Given the description of an element on the screen output the (x, y) to click on. 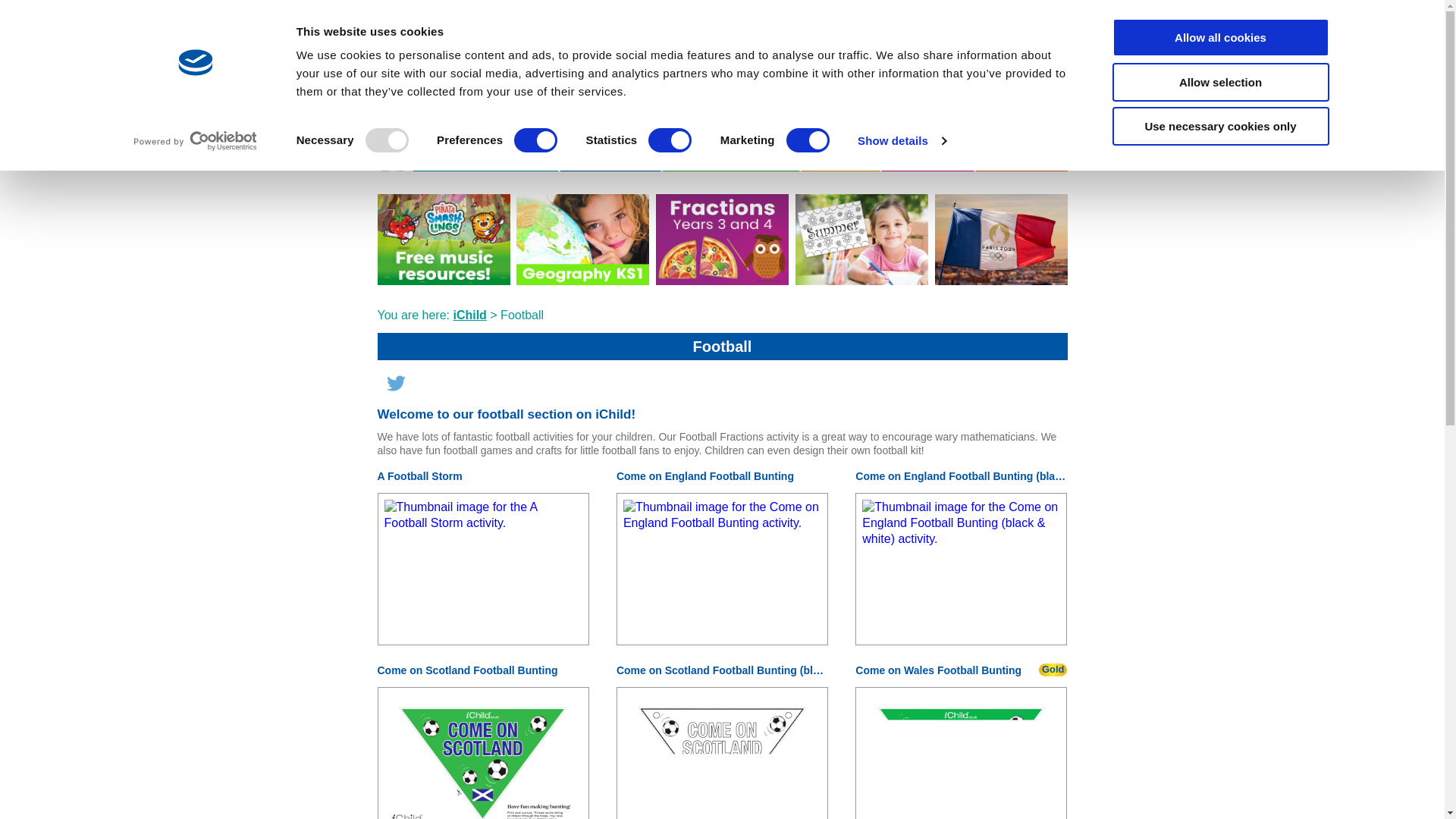
Allow selection (1219, 81)
Register (816, 49)
Log in (984, 49)
Use necessary cookies only (1219, 126)
Allow all cookies (1219, 37)
Show details (900, 140)
